Given the description of an element on the screen output the (x, y) to click on. 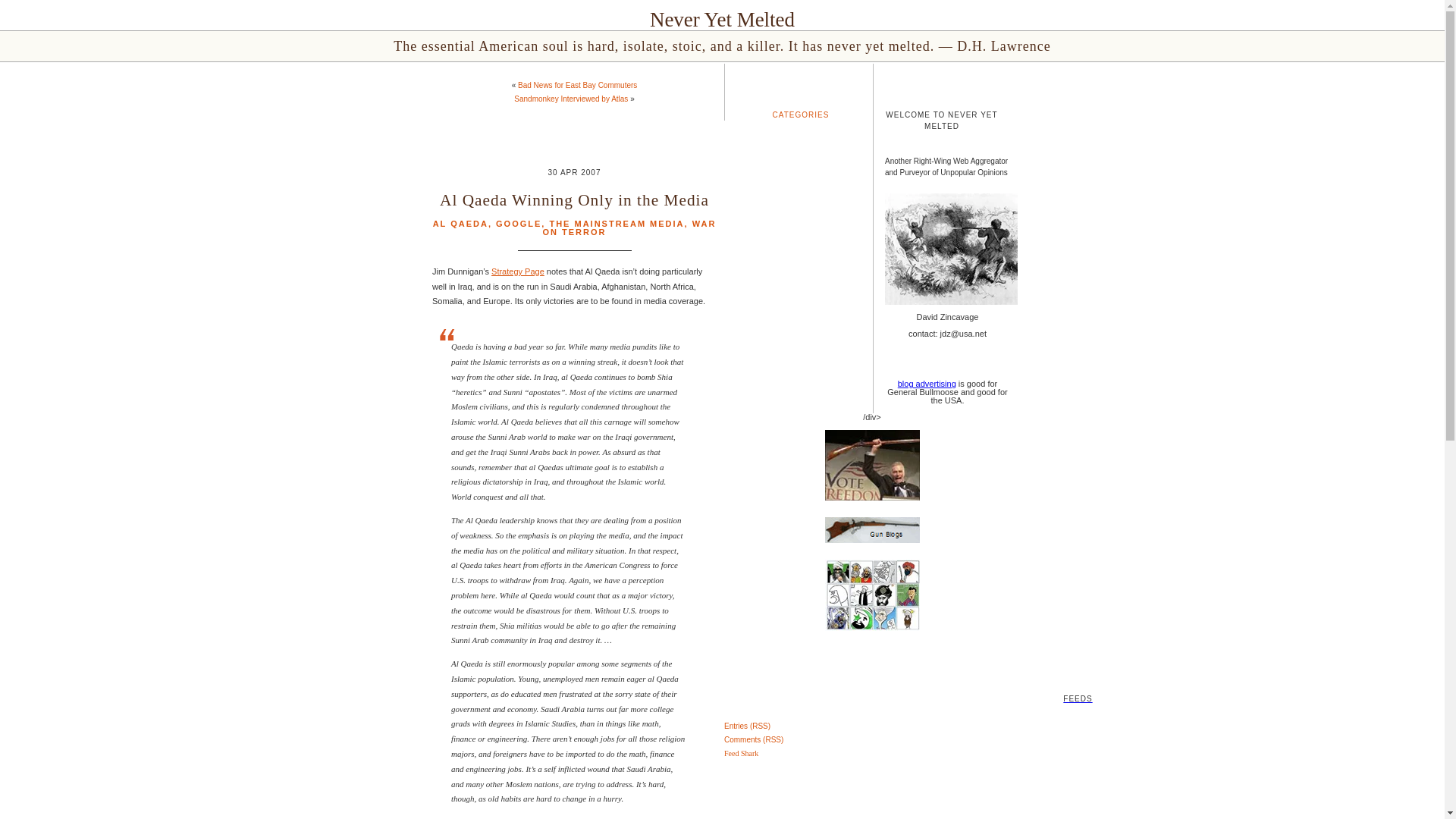
Strategy Page (518, 271)
AL QAEDA (459, 223)
Sandmonkey Interviewed by Atlas (570, 99)
Feed Shark (740, 753)
CATEGORIES (801, 114)
WAR ON TERROR (629, 227)
Al Qaeda Winning Only in the Media (574, 199)
GOOGLE (518, 223)
blog advertising (927, 383)
Bad News for East Bay Commuters (577, 85)
